Given the description of an element on the screen output the (x, y) to click on. 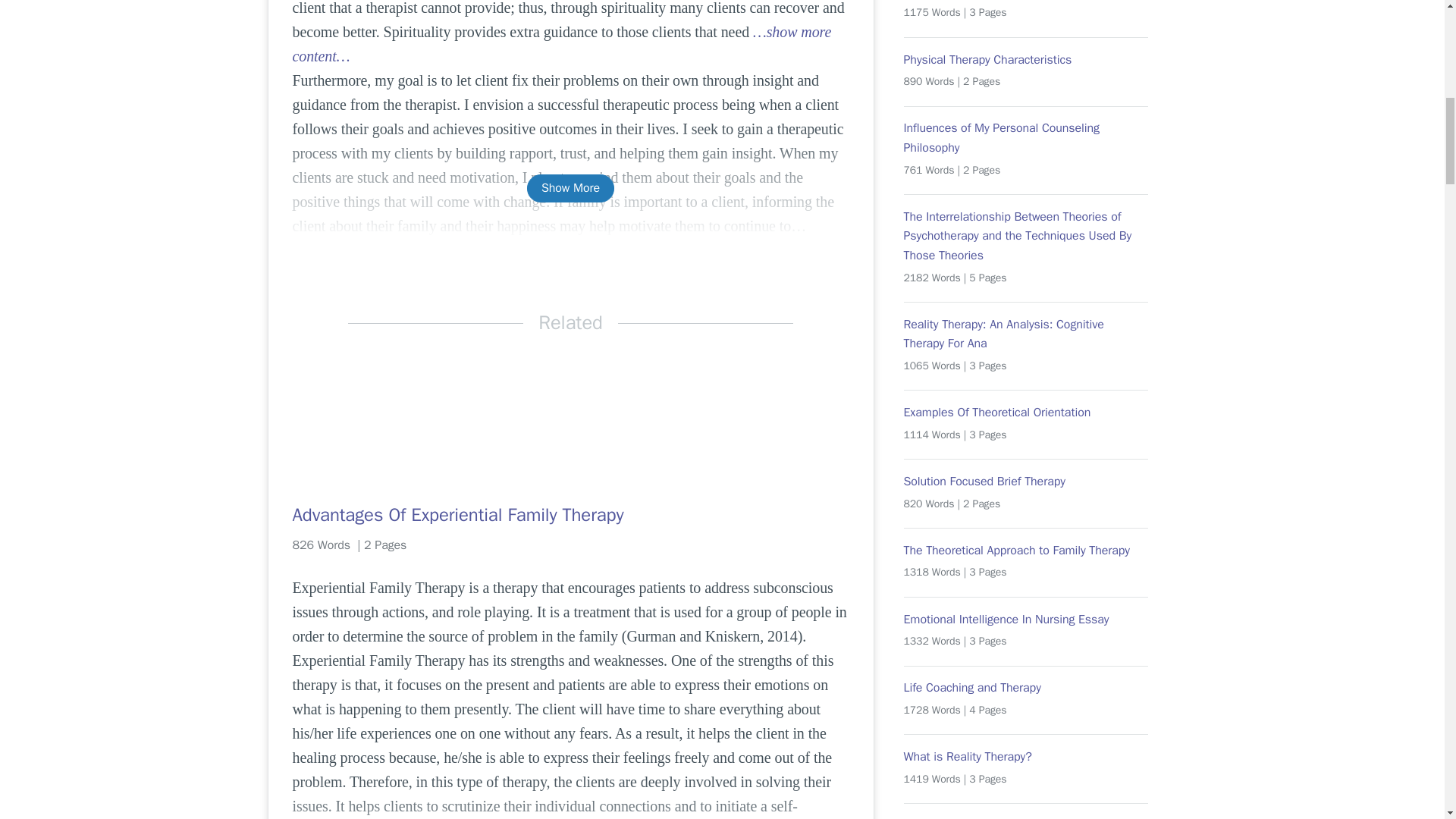
Show More (570, 188)
Advantages Of Experiential Family Therapy (570, 514)
